Given the description of an element on the screen output the (x, y) to click on. 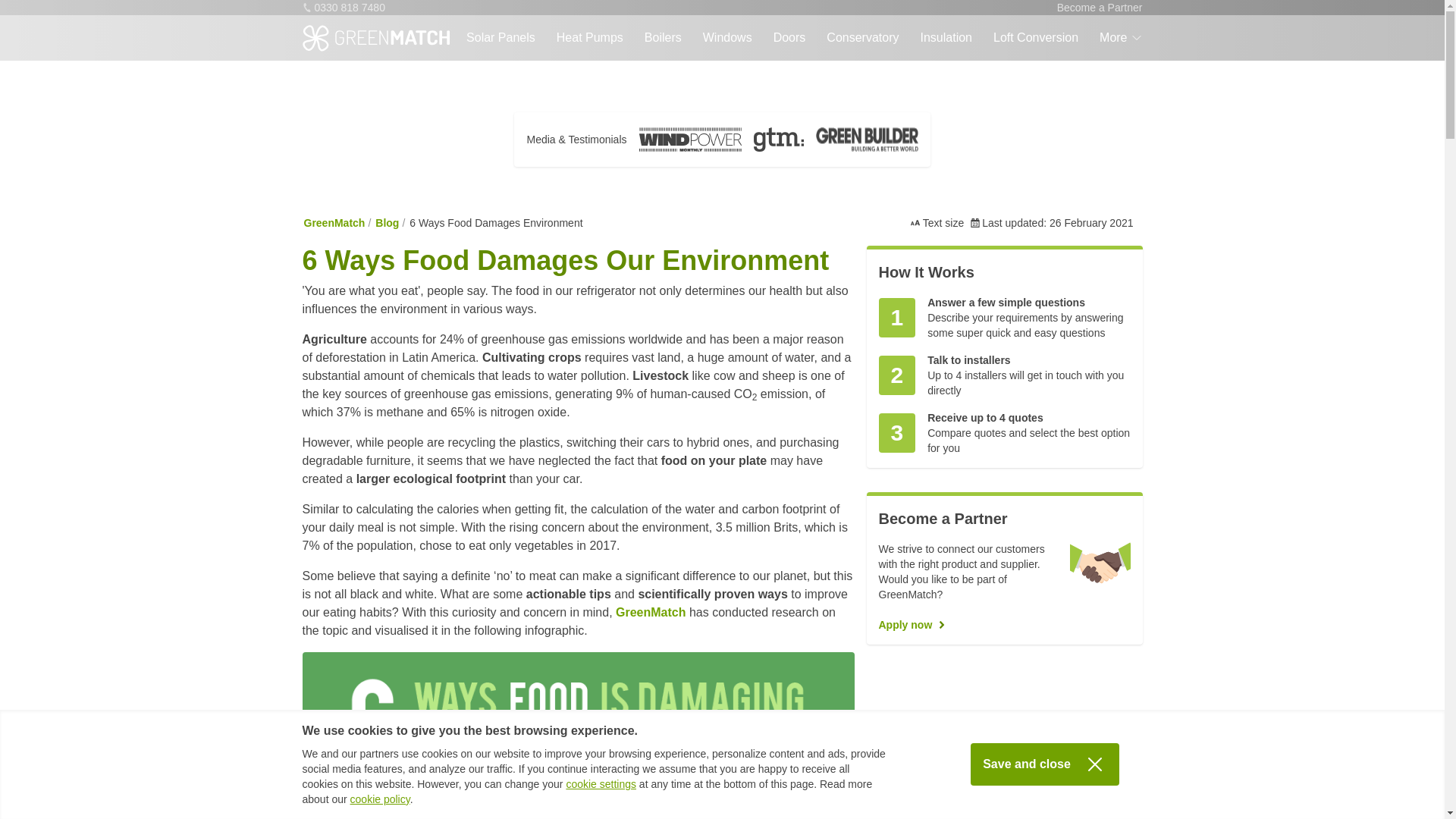
Boilers (663, 37)
Solar Panels (500, 37)
Heat Pumps (589, 37)
Become a Partner (1099, 7)
GreenMatch.co.uk (650, 612)
Windows (727, 37)
0330 818 7480 (342, 7)
Windows (727, 37)
Boilers (663, 37)
Heat Pumps (589, 37)
Solar Panels (500, 37)
